Given the description of an element on the screen output the (x, y) to click on. 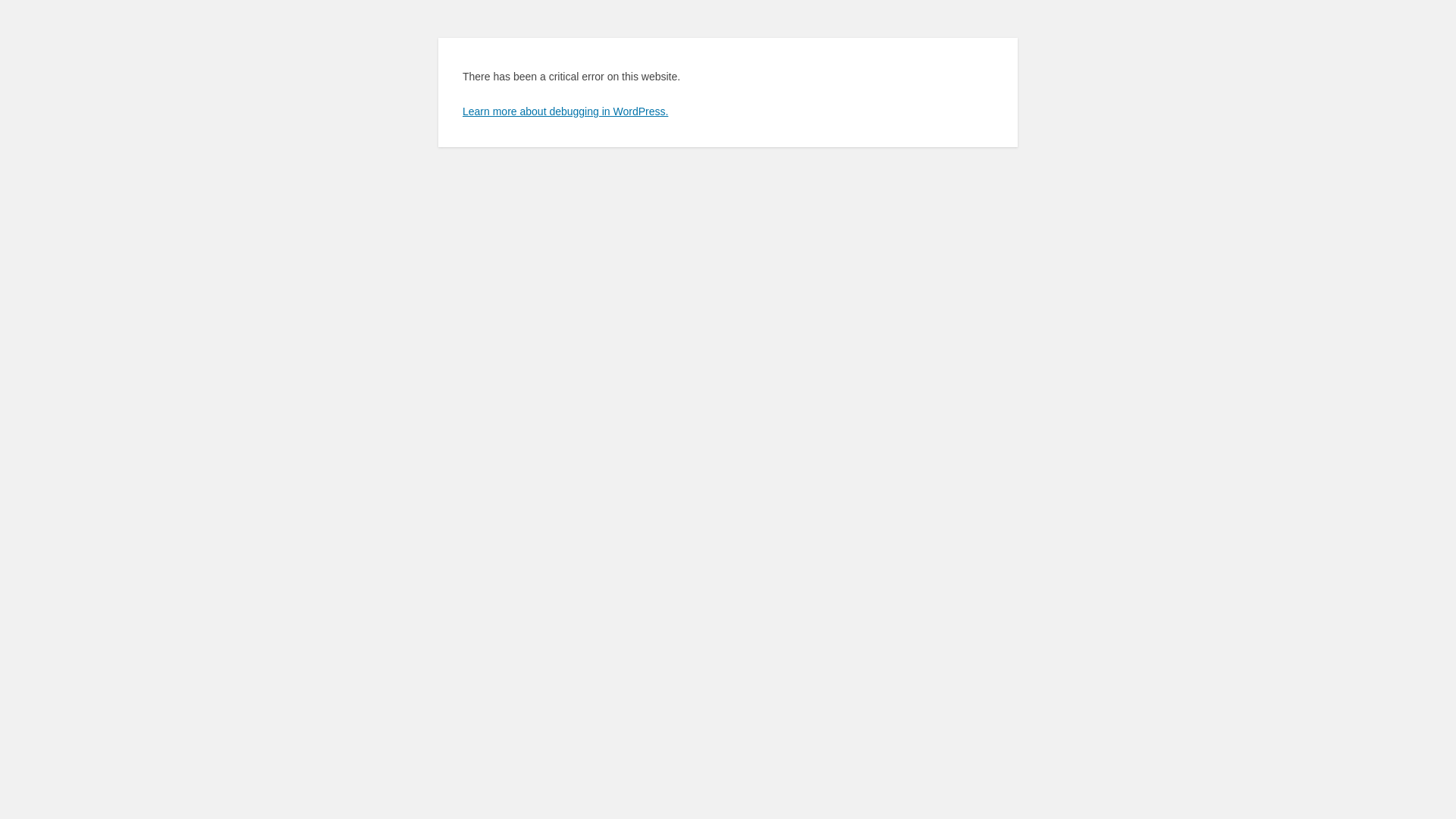
Learn more about debugging in WordPress. Element type: text (565, 111)
